Given the description of an element on the screen output the (x, y) to click on. 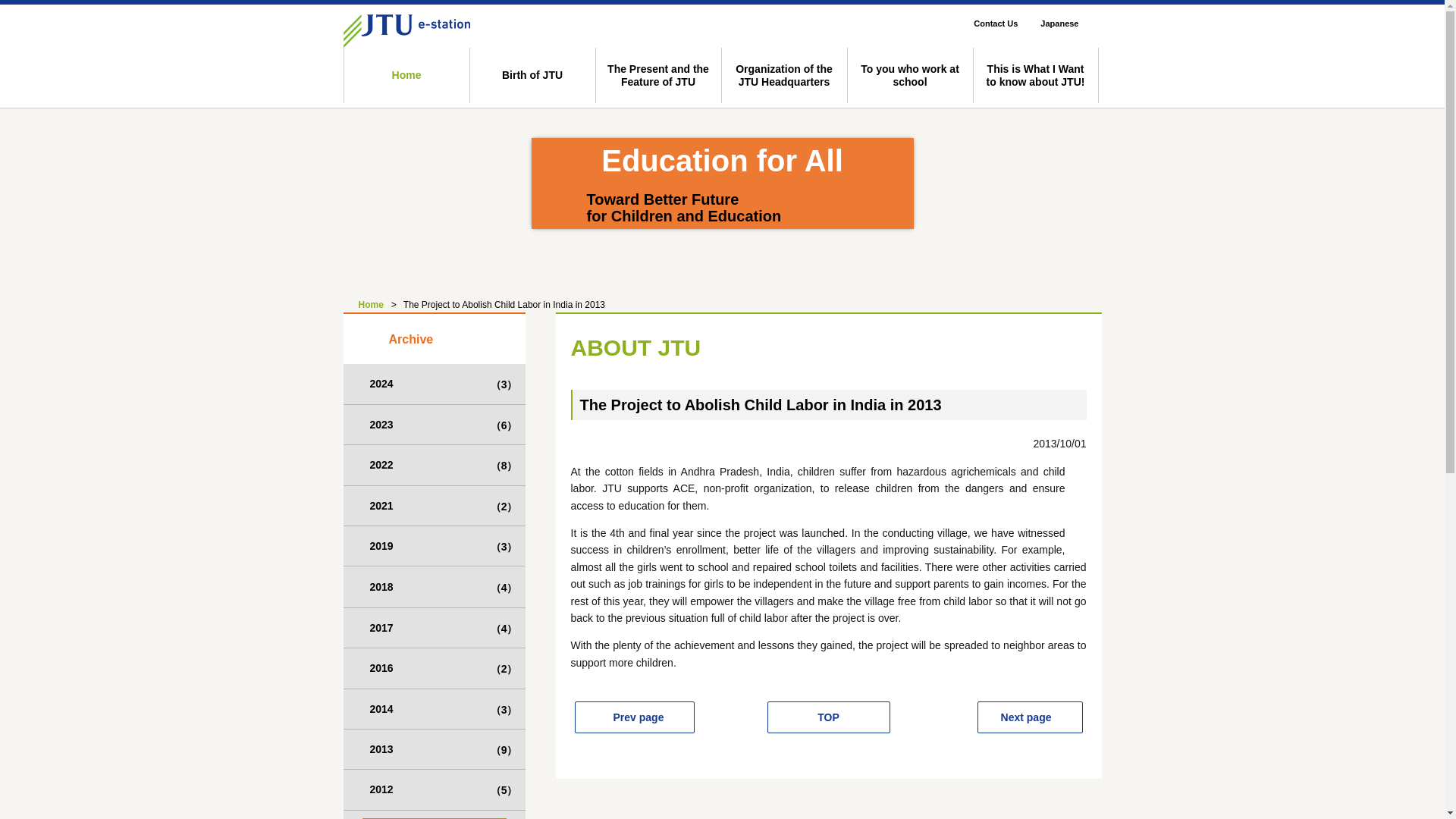
This is What I Want to know about JTU! (1034, 75)
Next page (1029, 716)
Japanese (1070, 24)
To you who work at school (908, 75)
Home (362, 304)
Prev page (634, 716)
TOP (828, 717)
Home (405, 75)
Archive (433, 337)
Organization of the JTU Headquarters (782, 75)
